Given the description of an element on the screen output the (x, y) to click on. 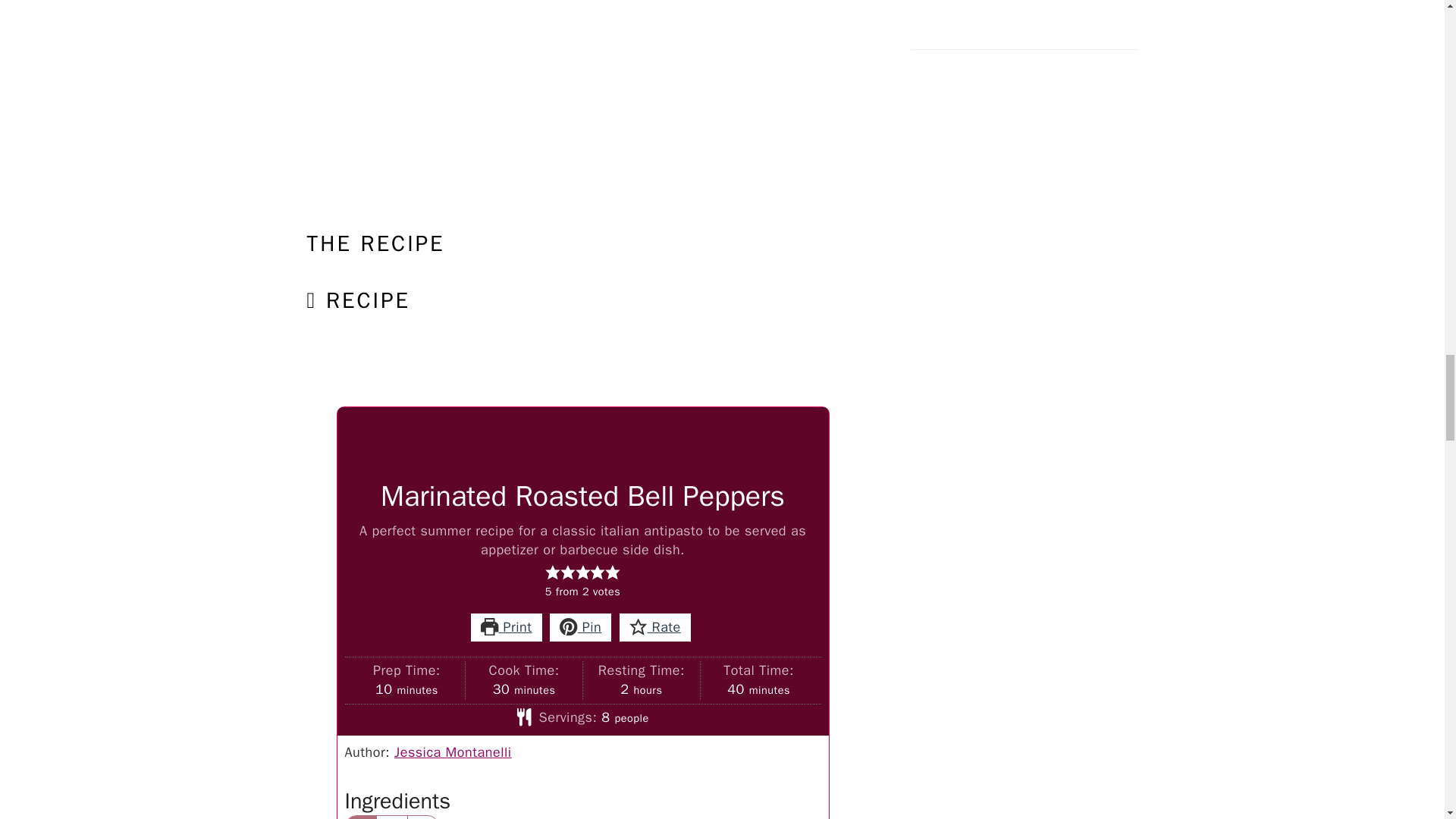
Jessica Montanelli (453, 751)
Print (505, 627)
Rate (655, 627)
Pin (580, 627)
